Given the description of an element on the screen output the (x, y) to click on. 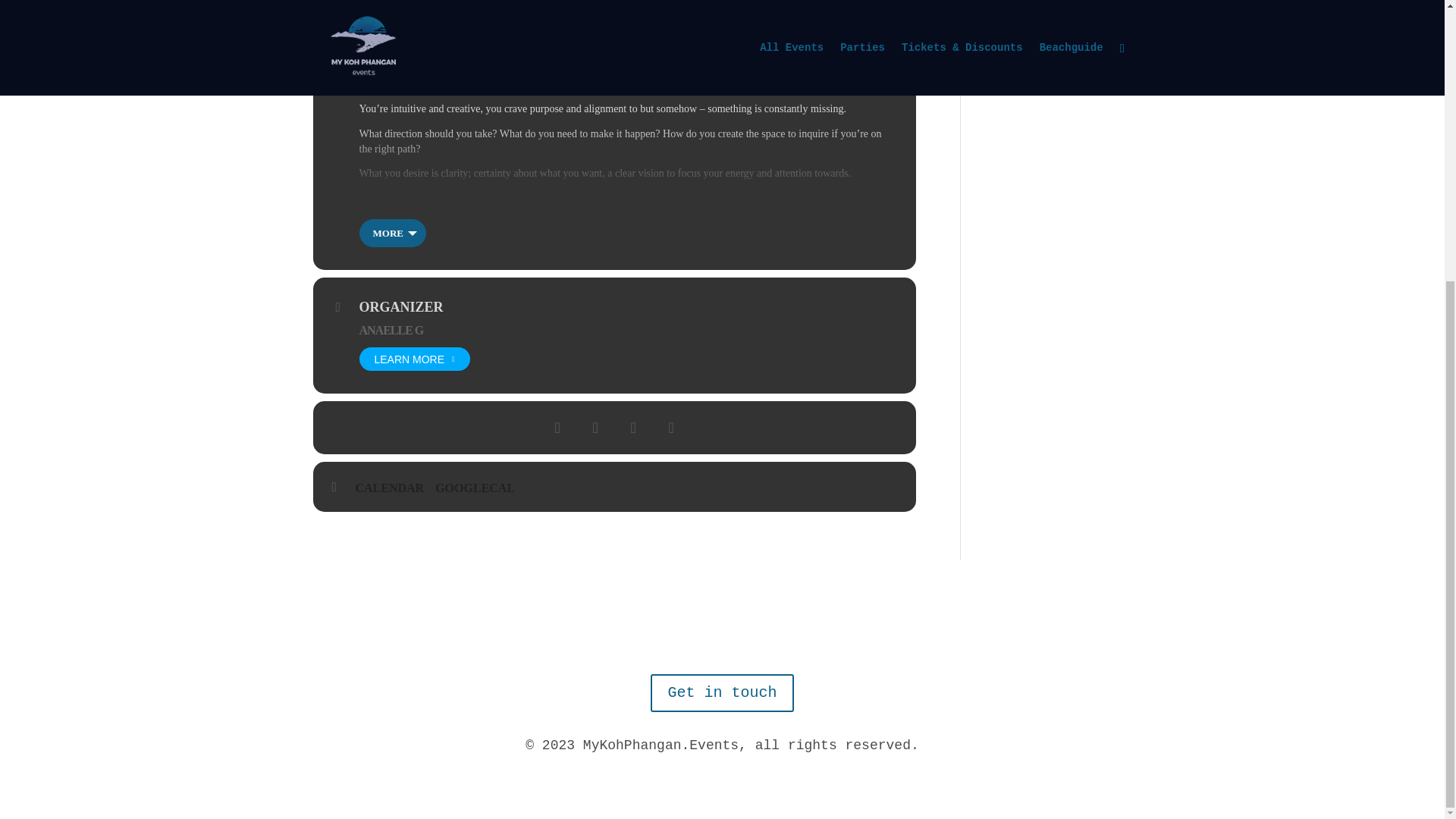
Follow on Instagram (706, 632)
Share on facebook (557, 427)
GOOGLECAL (480, 488)
Get in touch (721, 692)
CALENDAR (395, 488)
Share on Whatsapp (633, 427)
ANAELLE G (391, 329)
Follow on X (766, 632)
LEARN MORE (414, 359)
Copy Link (671, 427)
Follow on Telegram (675, 632)
Add to your calendar (395, 488)
Share on Twitter (595, 427)
Follow on Facebook (737, 632)
Add to google calendar (480, 488)
